Given the description of an element on the screen output the (x, y) to click on. 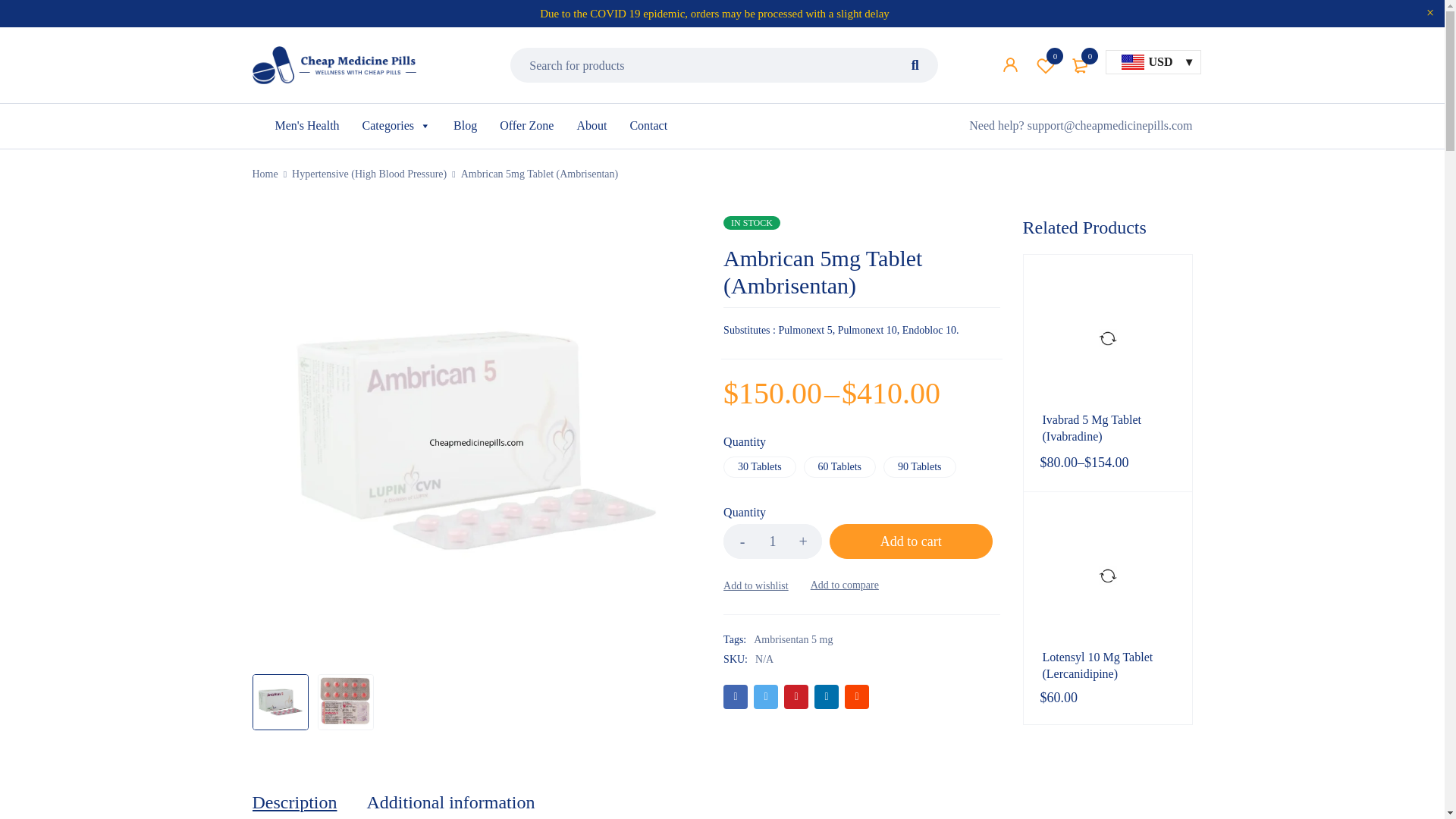
View your shopping cart (1079, 64)
- (742, 541)
Wishlist (1044, 64)
MyMedi (332, 64)
1 (772, 541)
Search (914, 99)
